Given the description of an element on the screen output the (x, y) to click on. 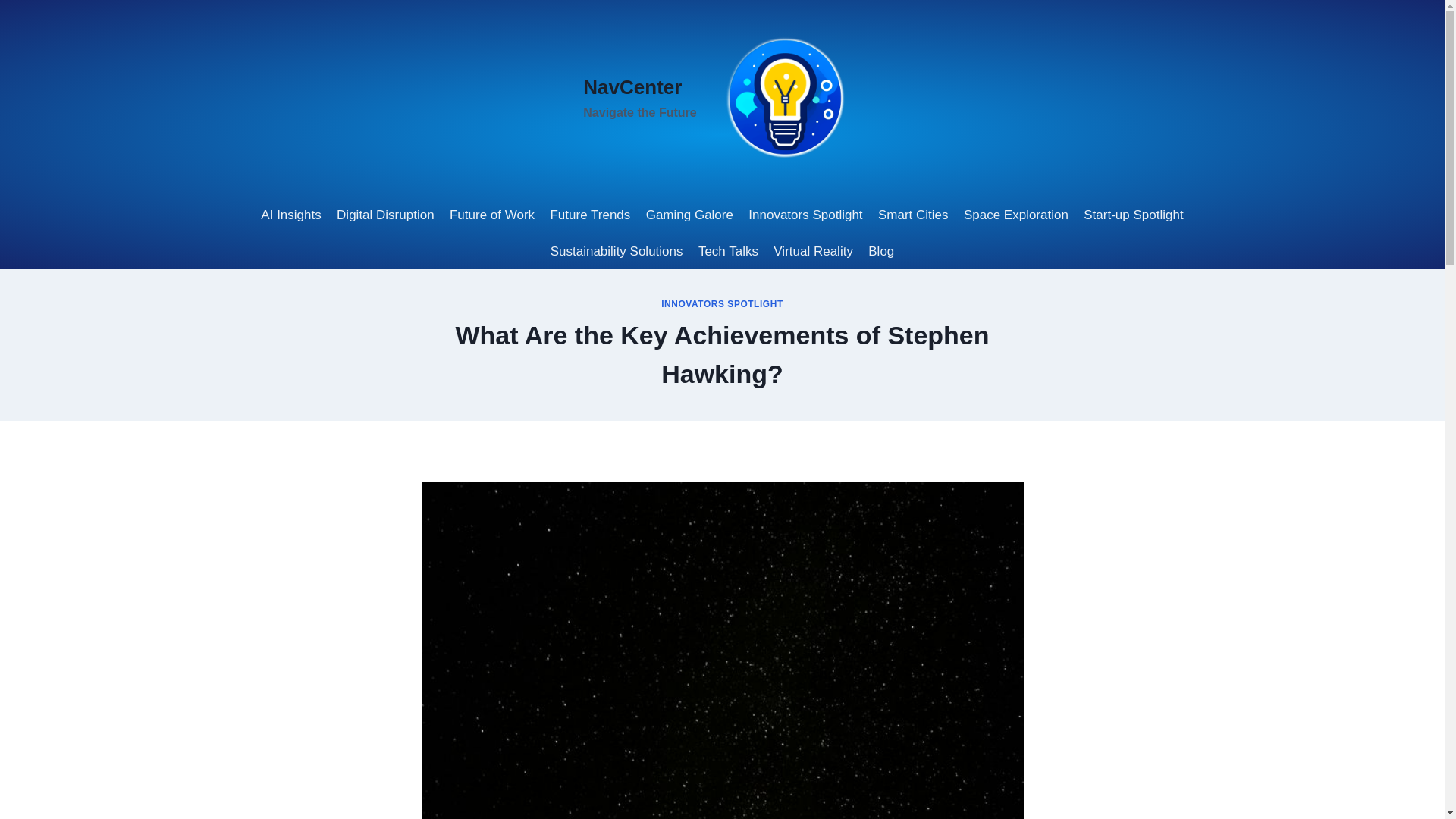
Start-up Spotlight (1133, 215)
Tech Talks (727, 251)
Blog (880, 251)
Future Trends (589, 215)
Space Exploration (1015, 215)
Sustainability Solutions (616, 251)
Digital Disruption (385, 215)
Future of Work (492, 215)
Virtual Reality (812, 251)
